Given the description of an element on the screen output the (x, y) to click on. 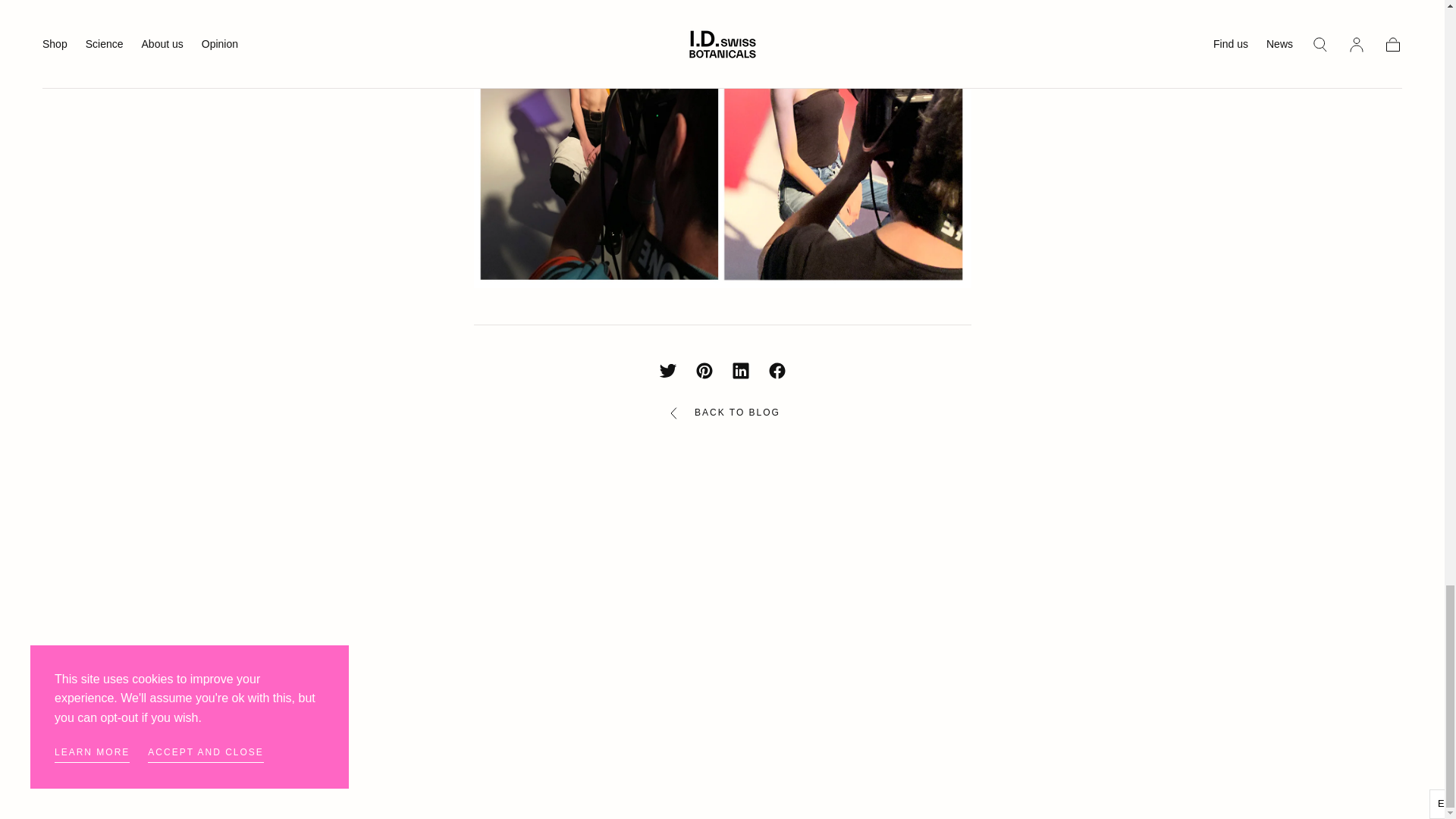
BACK TO BLOG (721, 412)
